Given the description of an element on the screen output the (x, y) to click on. 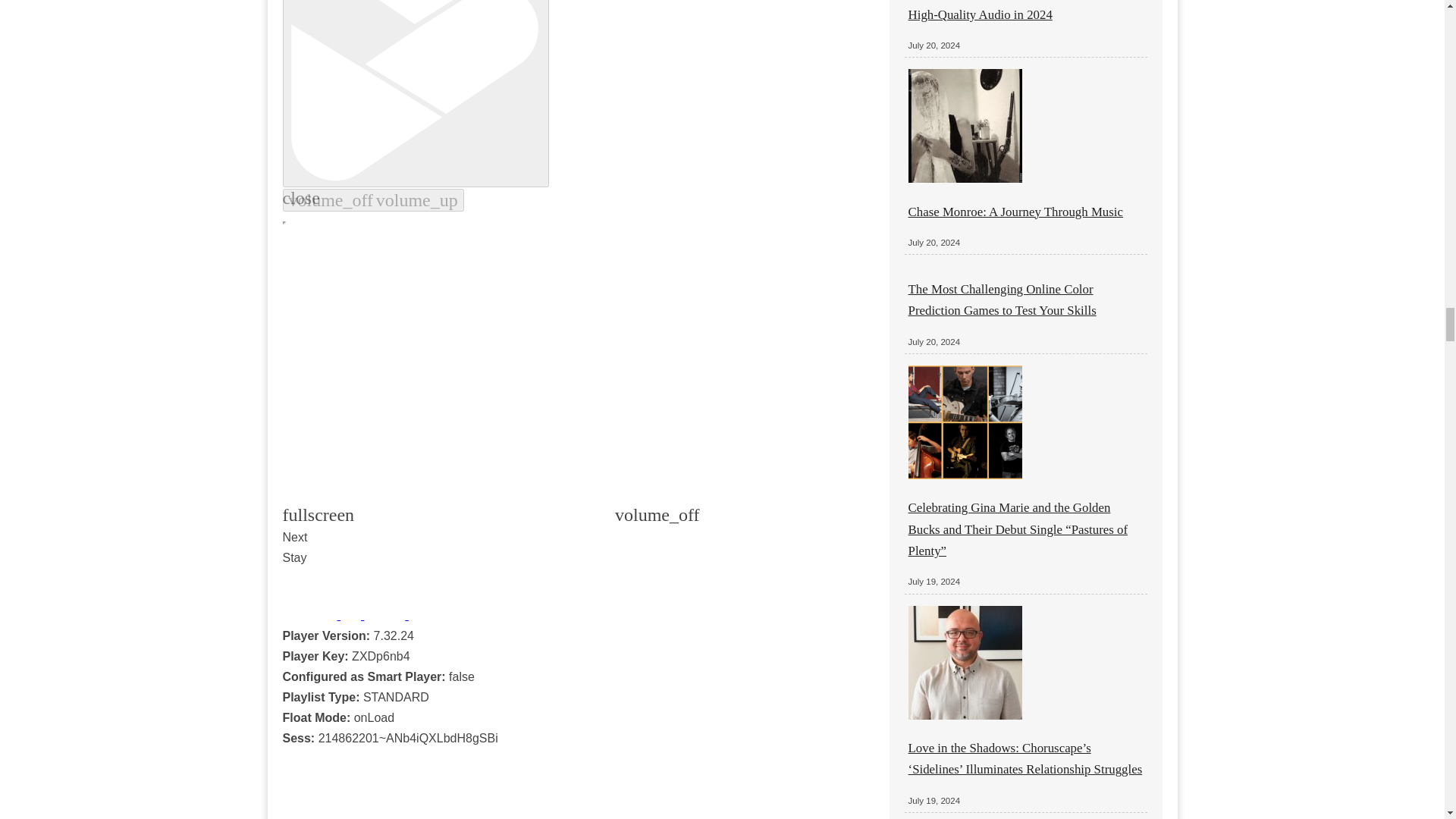
Chase Monroe: A Journey Through Music (1015, 211)
